Given the description of an element on the screen output the (x, y) to click on. 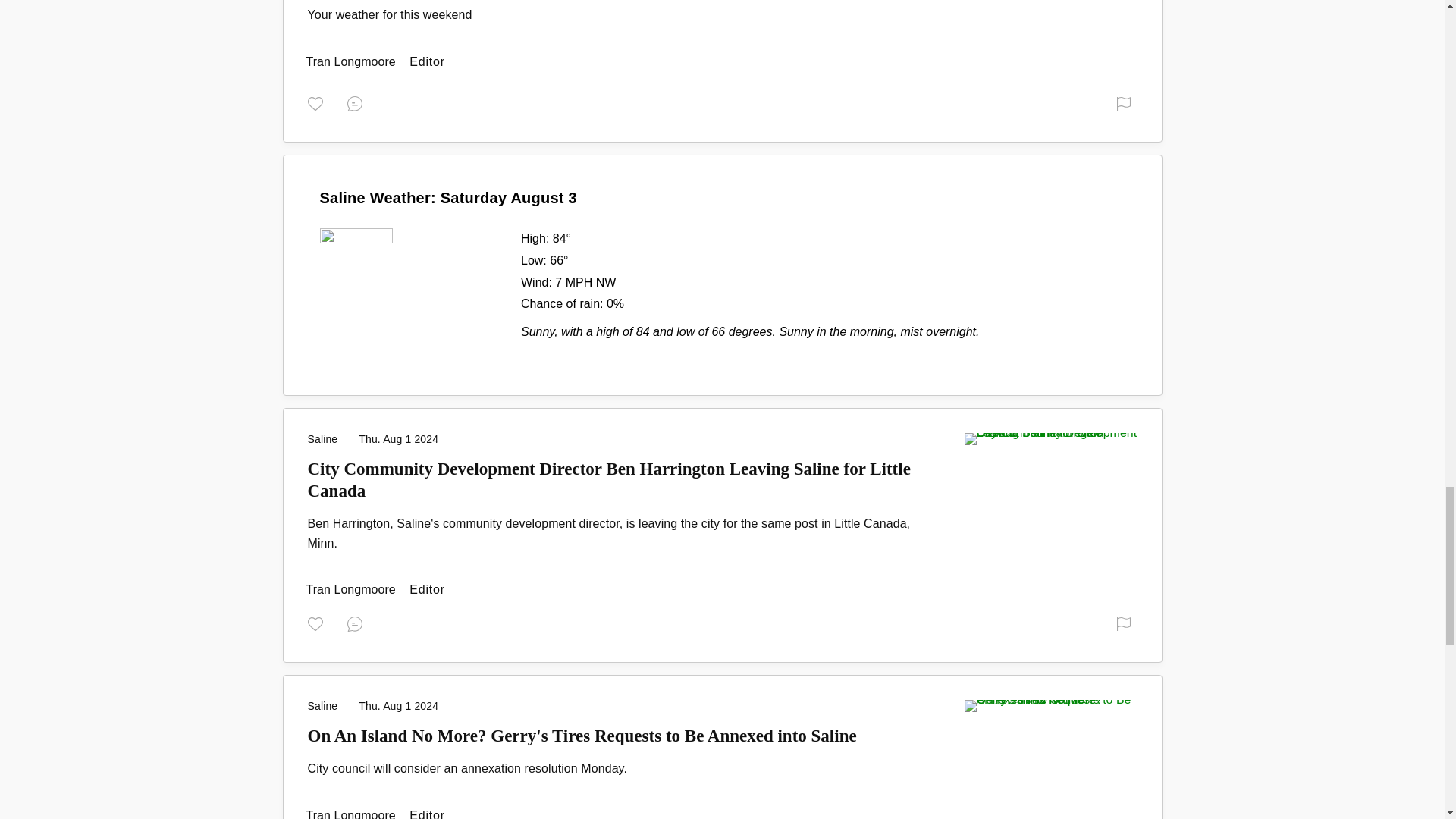
Editor (351, 61)
Editor (351, 589)
Reply (357, 102)
Thank (318, 102)
